Given the description of an element on the screen output the (x, y) to click on. 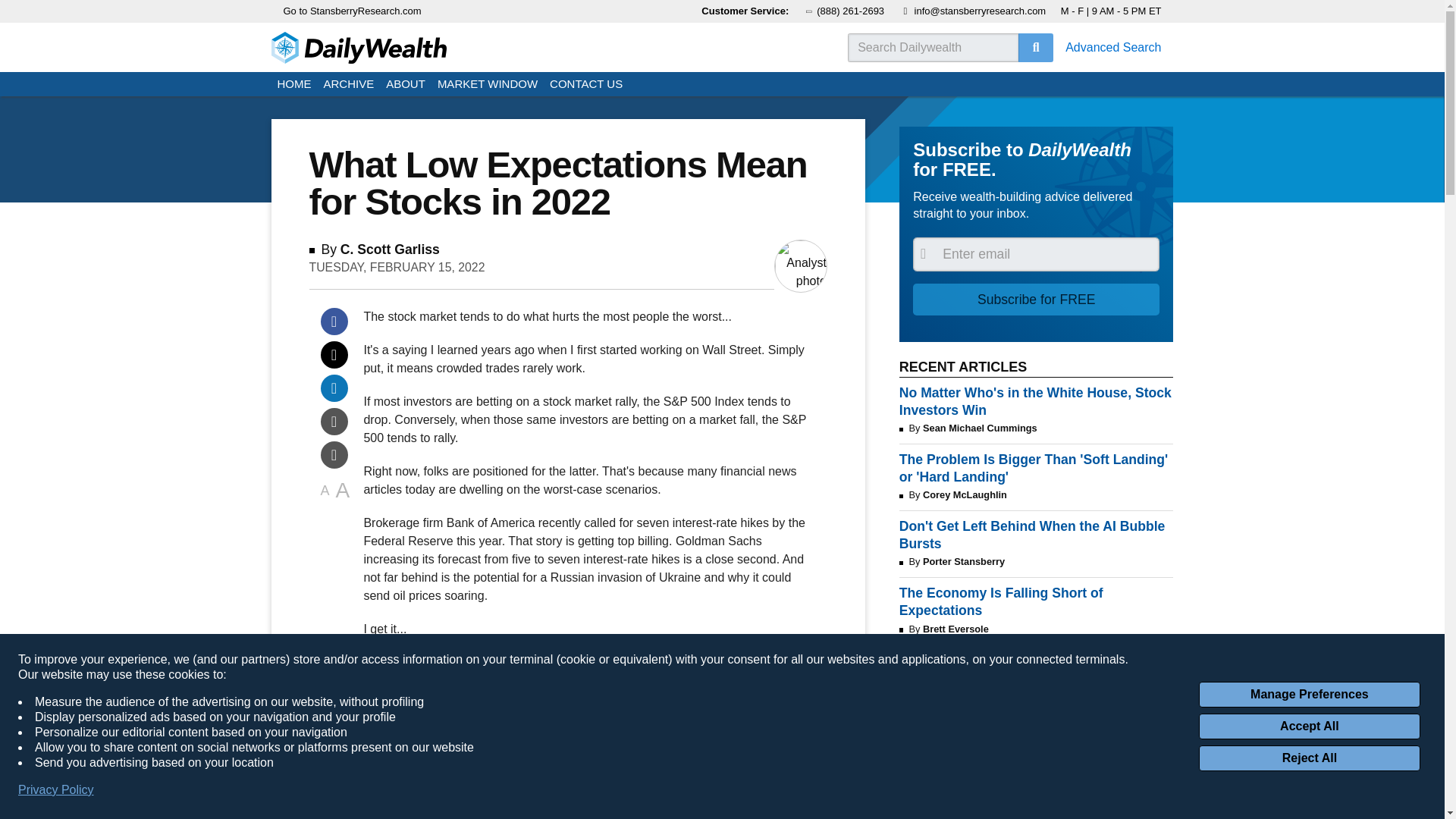
CONTACT US (585, 84)
Manage Preferences (1309, 694)
HOME (293, 84)
Accept All (1309, 726)
Advanced Search (1112, 46)
No Matter Who's in the White House, Stock Investors Win (1036, 401)
Reject All (1309, 758)
ARCHIVE (348, 84)
Privacy Policy (55, 789)
MARKET WINDOW (486, 84)
Subscribe for FREE (1035, 299)
ABOUT (405, 84)
Go to StansberryResearch.com (352, 11)
